Given the description of an element on the screen output the (x, y) to click on. 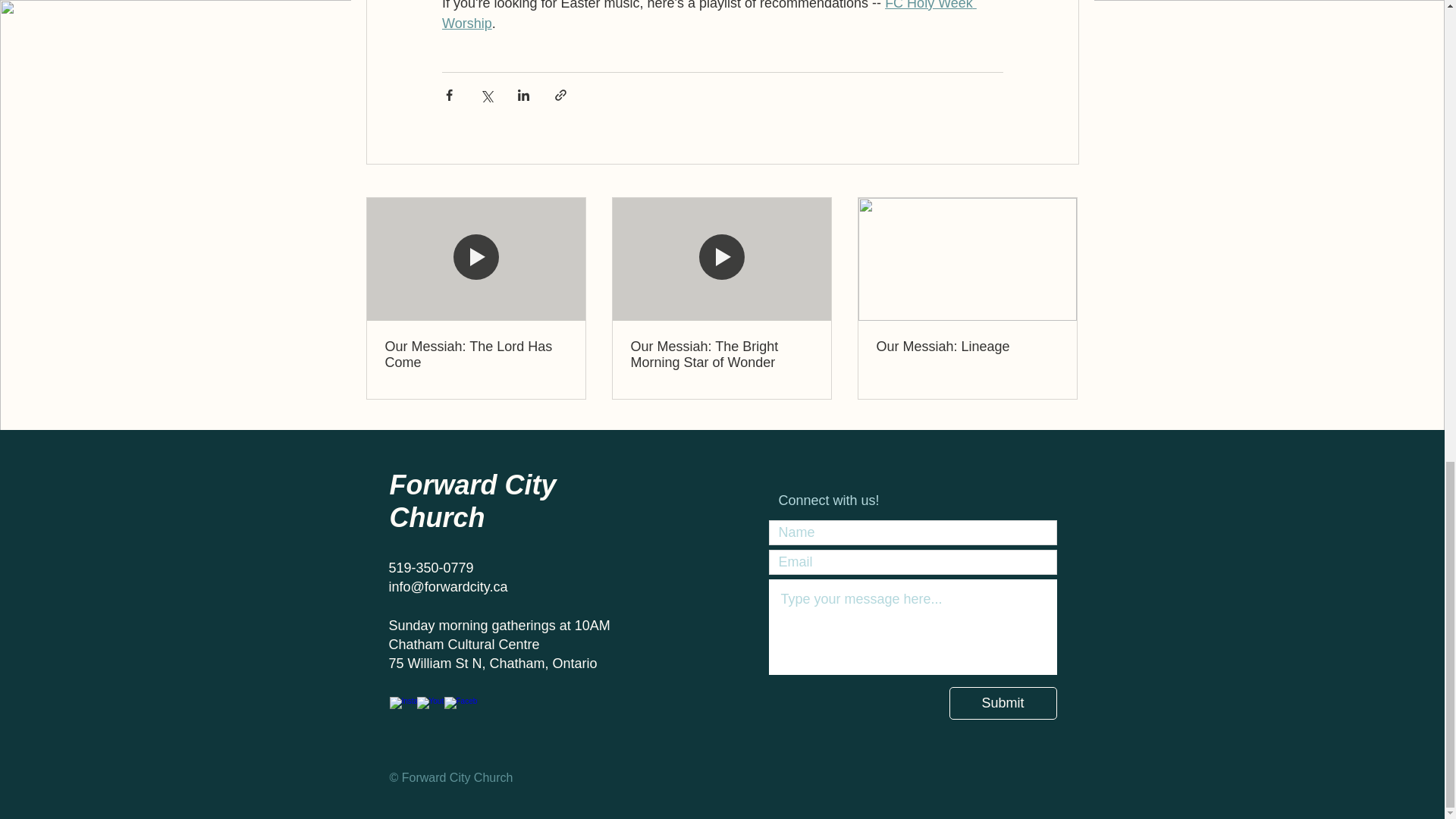
FC Holy Week Worship (708, 15)
Our Messiah: The Lord Has Come (476, 355)
Submit (1003, 703)
Our Messiah: Lineage (967, 346)
Our Messiah: The Bright Morning Star of Wonder (721, 355)
